Given the description of an element on the screen output the (x, y) to click on. 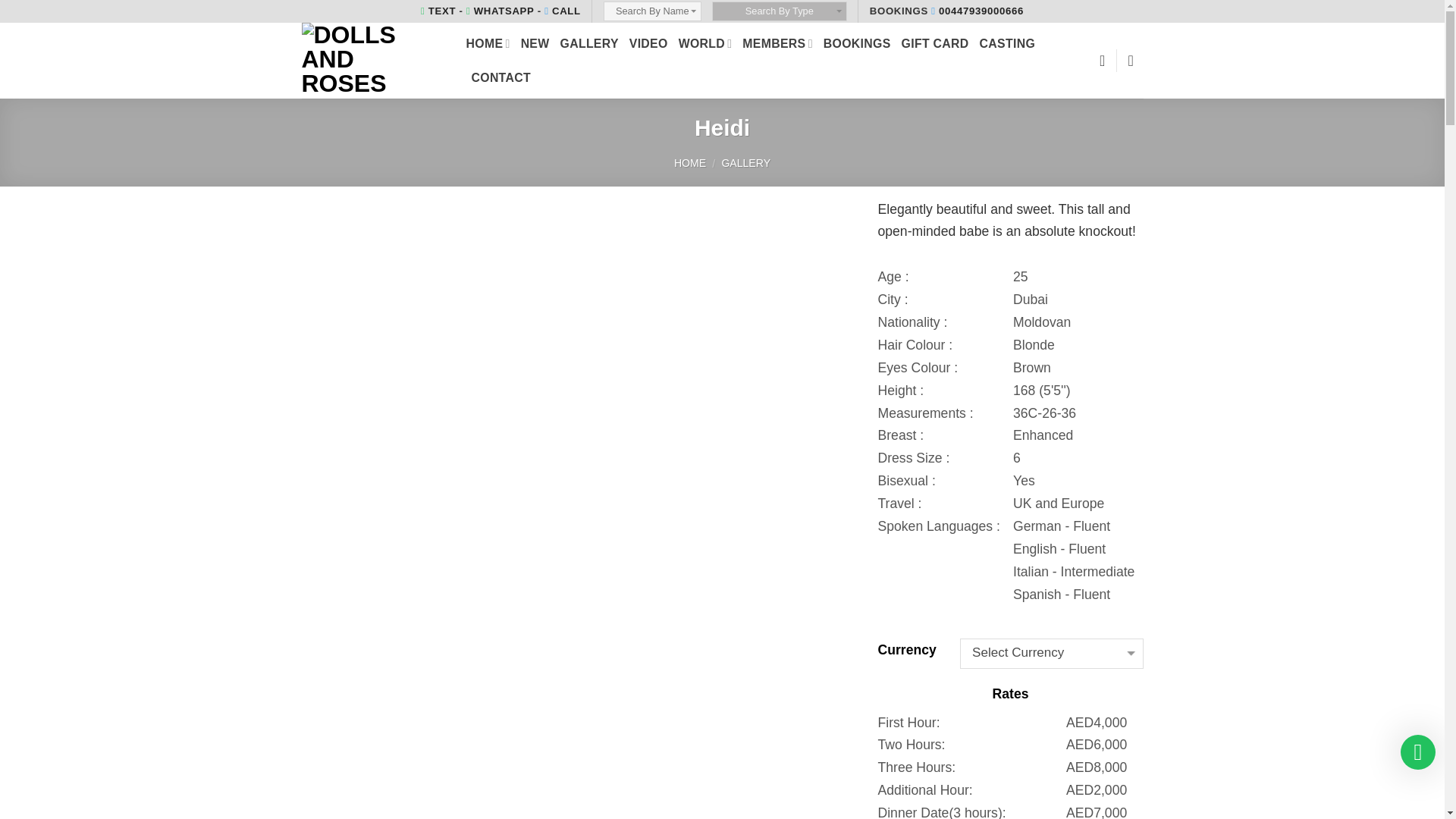
GALLERY (589, 43)
00447939000666 (977, 10)
GIFT CARD (935, 43)
DOLLS AND ROSES (372, 60)
VIDEO (648, 43)
WORLD (705, 43)
TEXT (437, 10)
MEMBERS (777, 43)
HOME (487, 43)
WHATSAPP (499, 10)
CASTING (1007, 43)
CALL (562, 10)
CONTACT (501, 77)
BOOKINGS (857, 43)
